Given the description of an element on the screen output the (x, y) to click on. 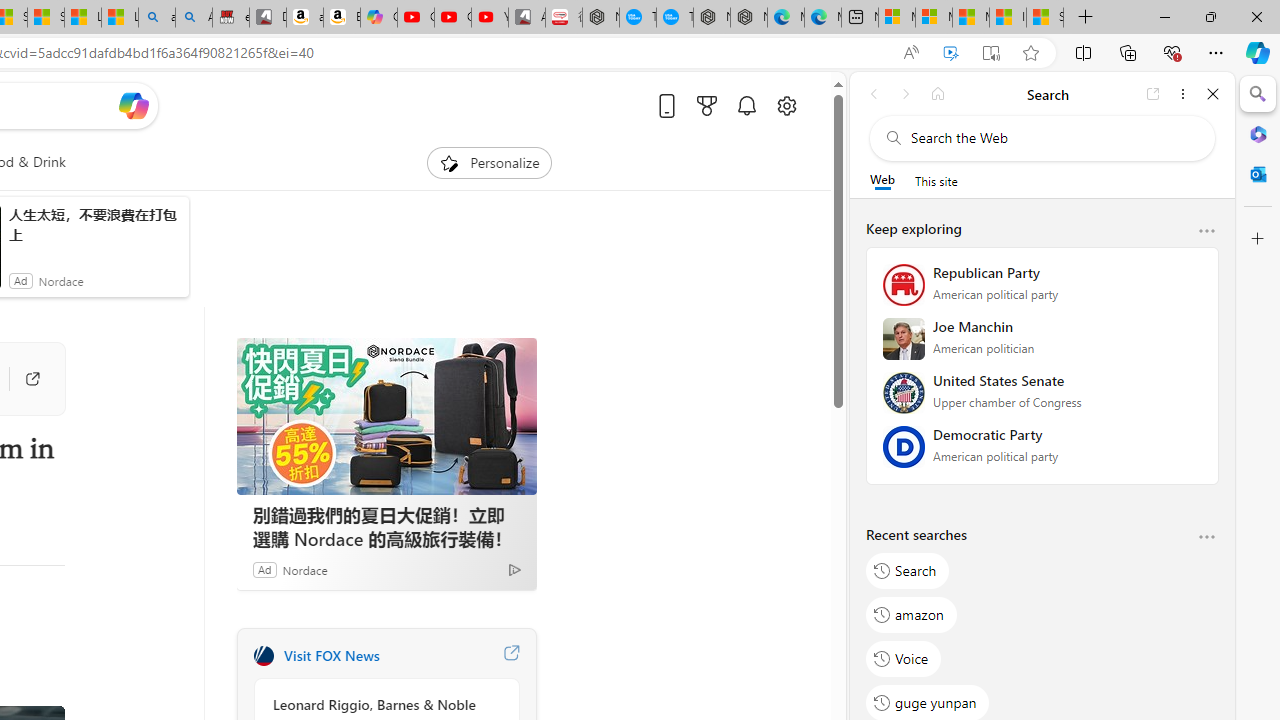
Joe Manchin American politician (1042, 345)
Customize (1258, 239)
Outlook (1258, 174)
This site scope (936, 180)
Open link in new tab (1153, 93)
Search the web (1051, 137)
Home (938, 93)
Go to publisher's site (22, 378)
Personalize (488, 162)
